Given the description of an element on the screen output the (x, y) to click on. 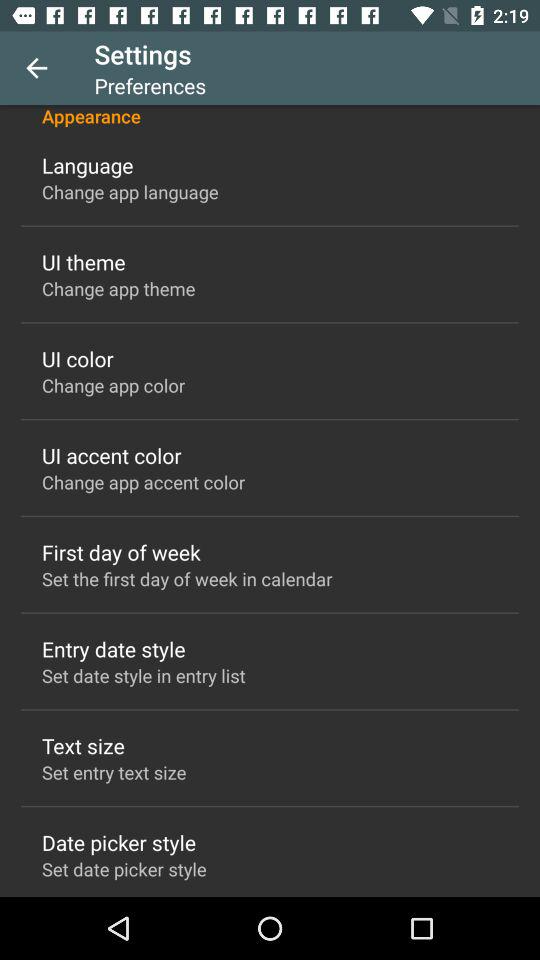
turn off the set the first at the center (187, 578)
